Given the description of an element on the screen output the (x, y) to click on. 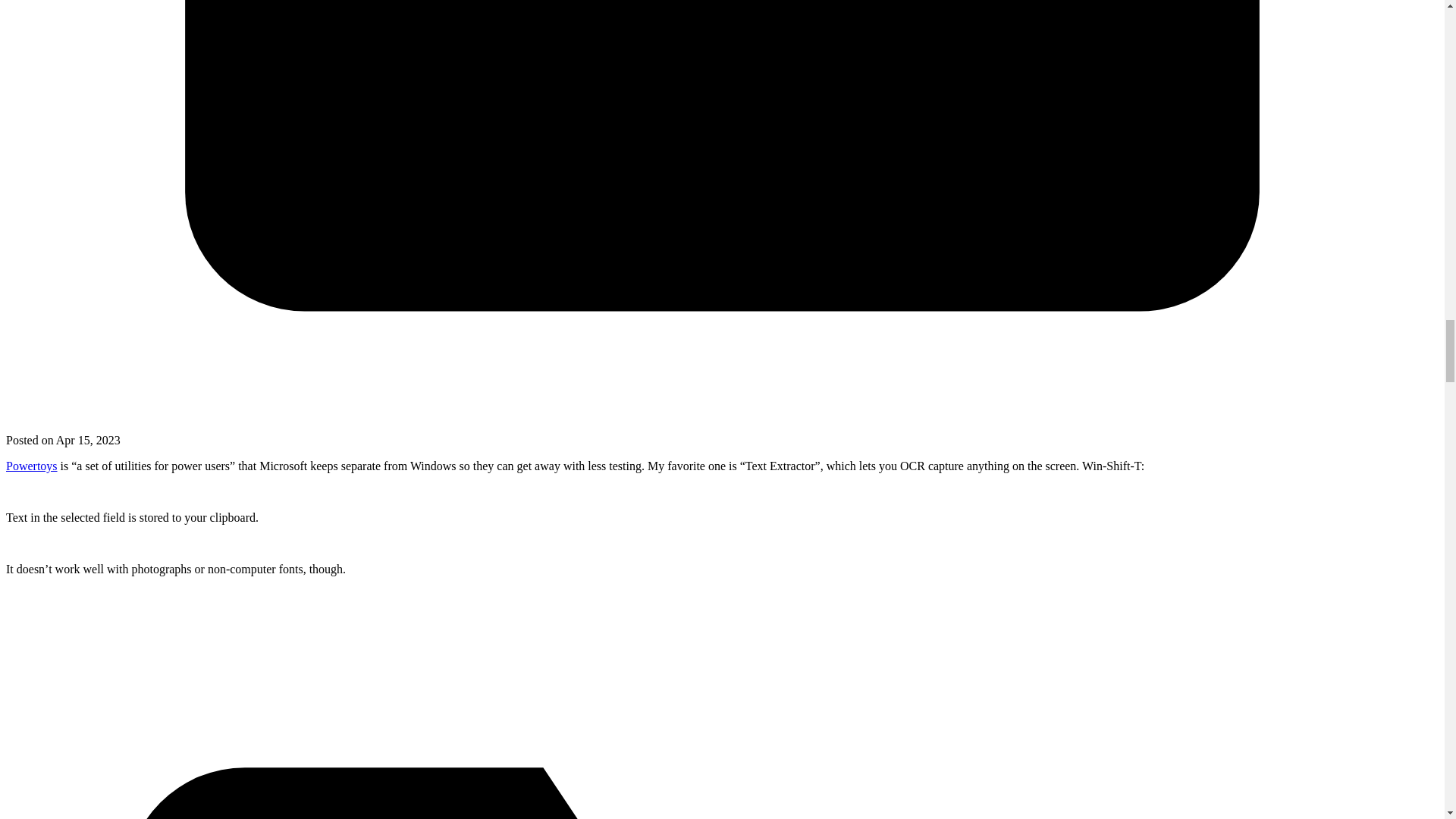
Powertoys (31, 465)
